Given the description of an element on the screen output the (x, y) to click on. 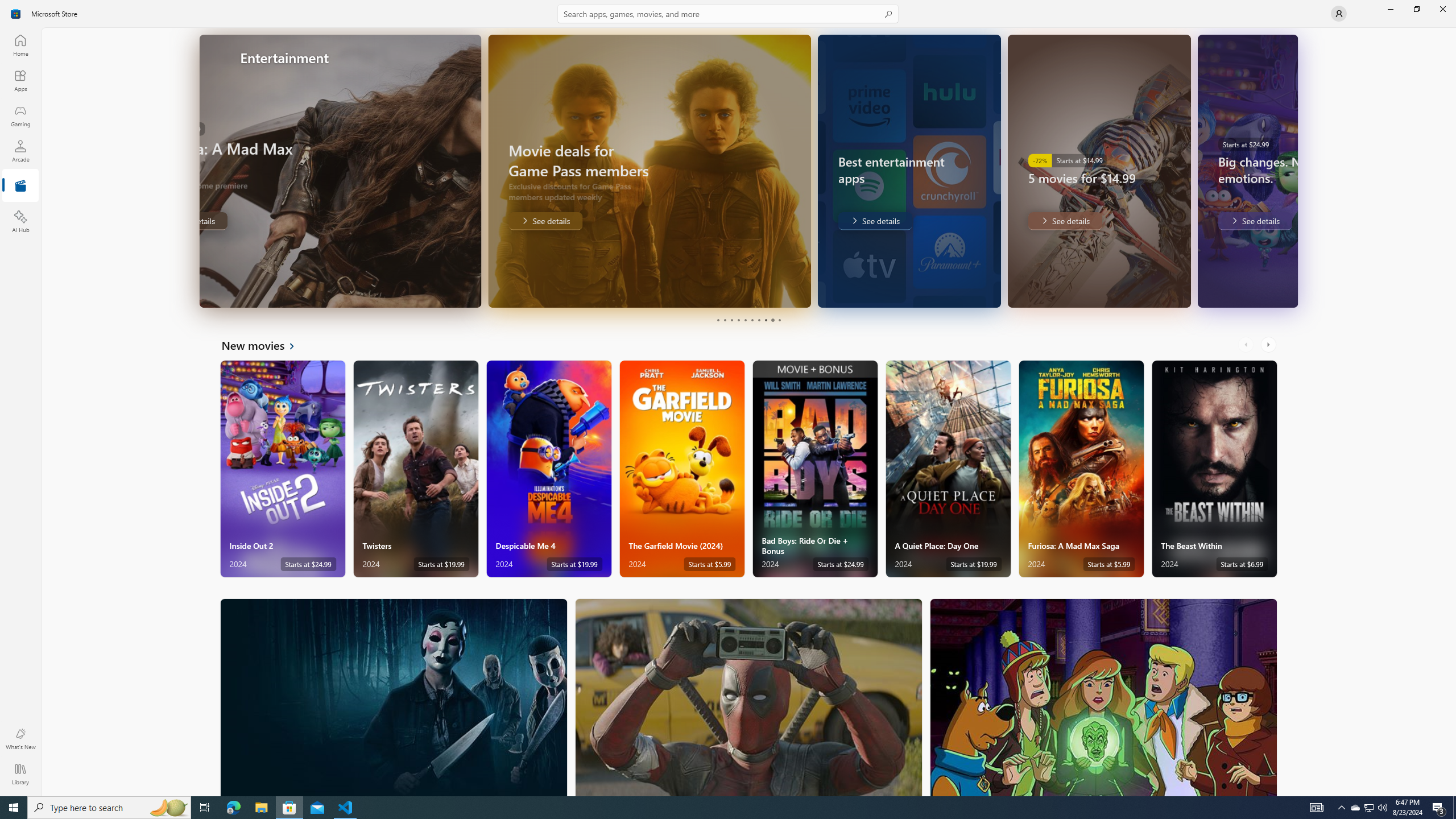
AutomationID: RightScrollButton (1269, 344)
Family (1102, 697)
Page 1 (717, 319)
The Garfield Movie (2024). Starts at $5.99   (681, 469)
Action & Adventure (749, 697)
Search (727, 13)
Play Trailer (1238, 291)
Page 3 (731, 319)
Page 7 (758, 319)
